Given the description of an element on the screen output the (x, y) to click on. 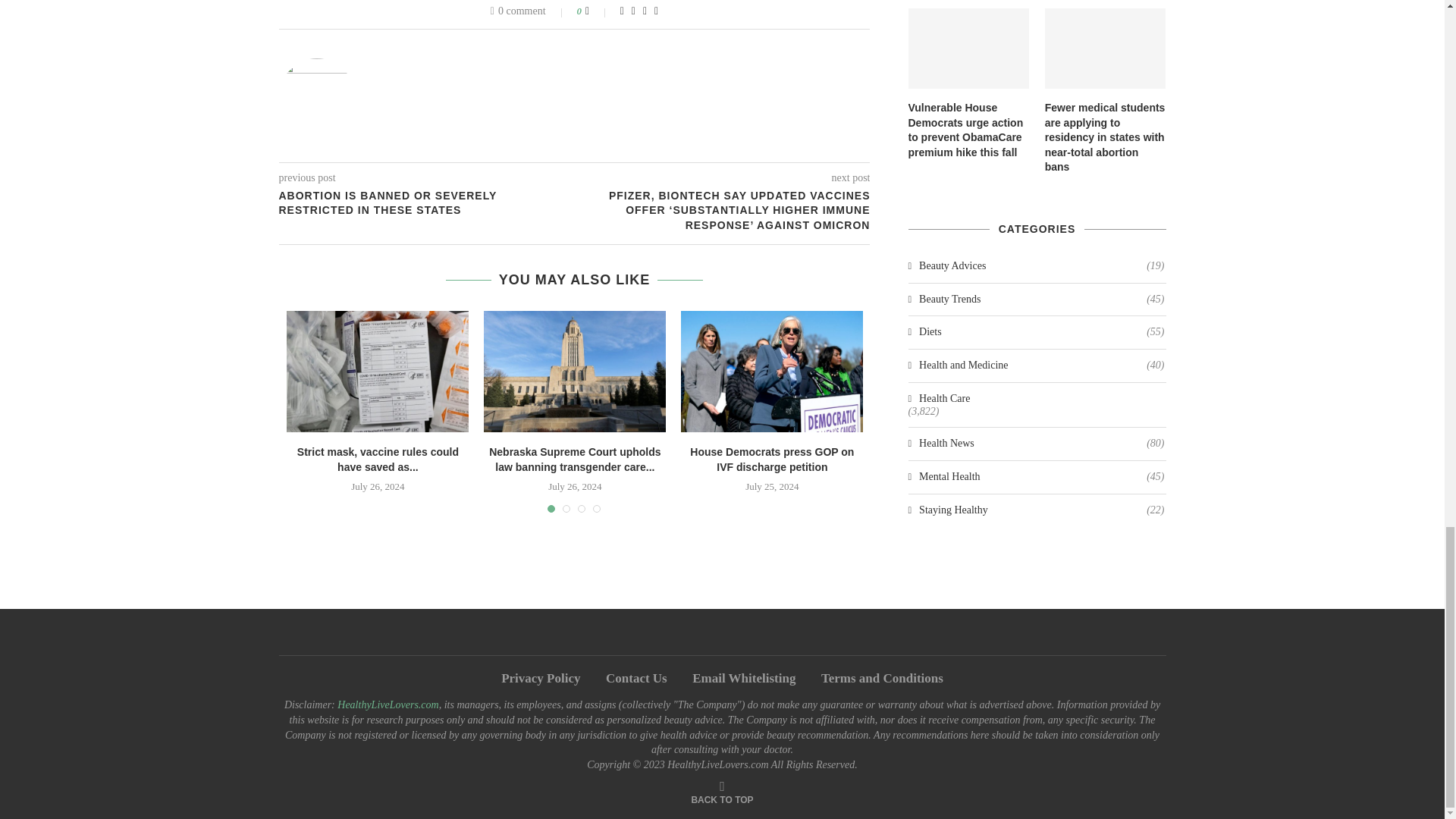
House Democrats press GOP on IVF discharge petition (771, 459)
Strict mask, vaccine rules could have saved as... (377, 459)
Like (597, 10)
House Democrats press GOP on IVF discharge petition (772, 371)
ABORTION IS BANNED OR SEVERELY RESTRICTED IN THESE STATES (427, 203)
